Given the description of an element on the screen output the (x, y) to click on. 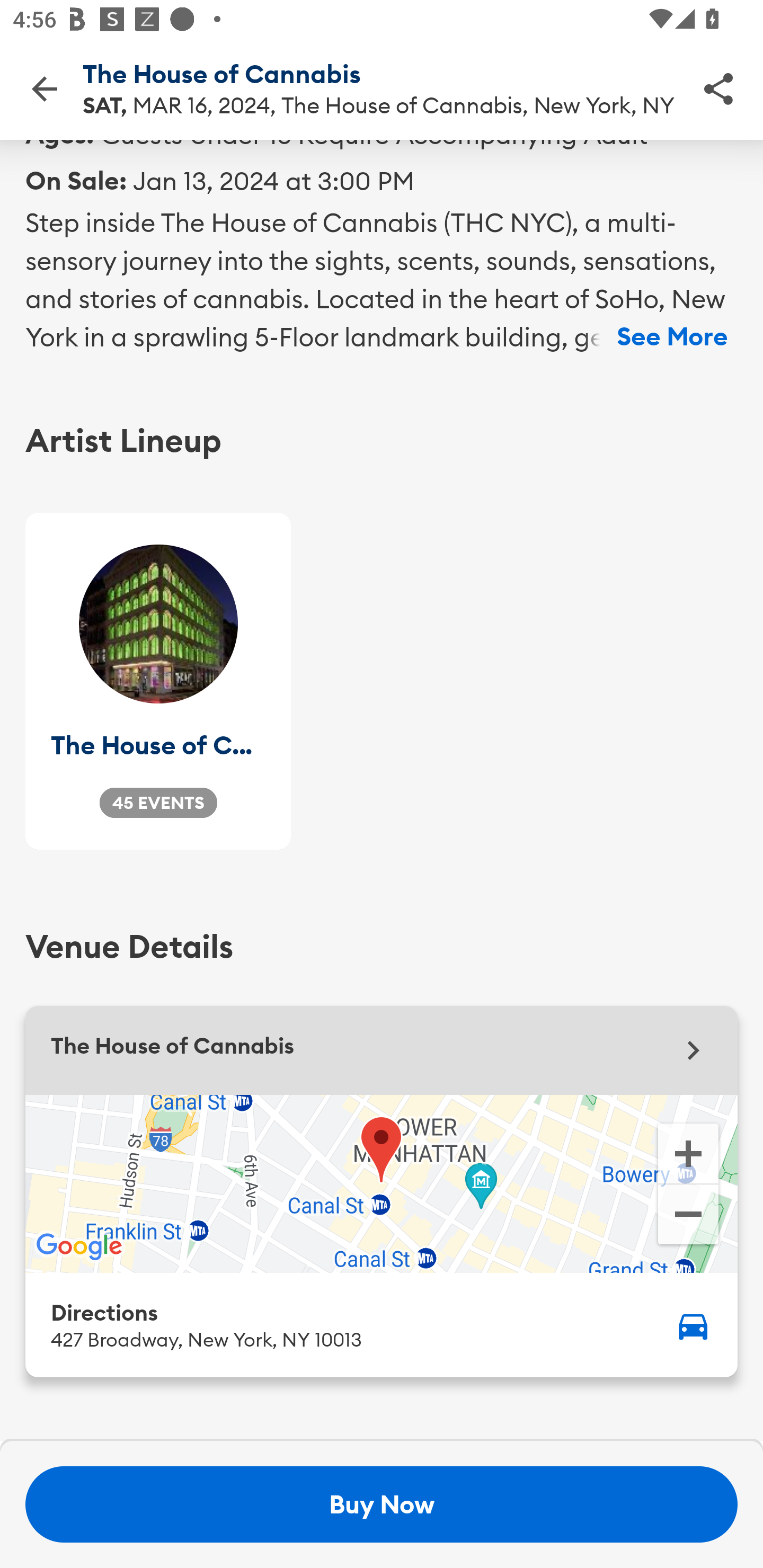
BackButton (44, 88)
Share (718, 88)
See More (671, 336)
The House of Cannabis 45 EVENTS (157, 680)
The House of Cannabis (381, 1050)
Zoom in (687, 1152)
Zoom out (687, 1216)
Directions 427 Broadway, New York, NY 10013 (381, 1324)
Buy Now (381, 1504)
